Given the description of an element on the screen output the (x, y) to click on. 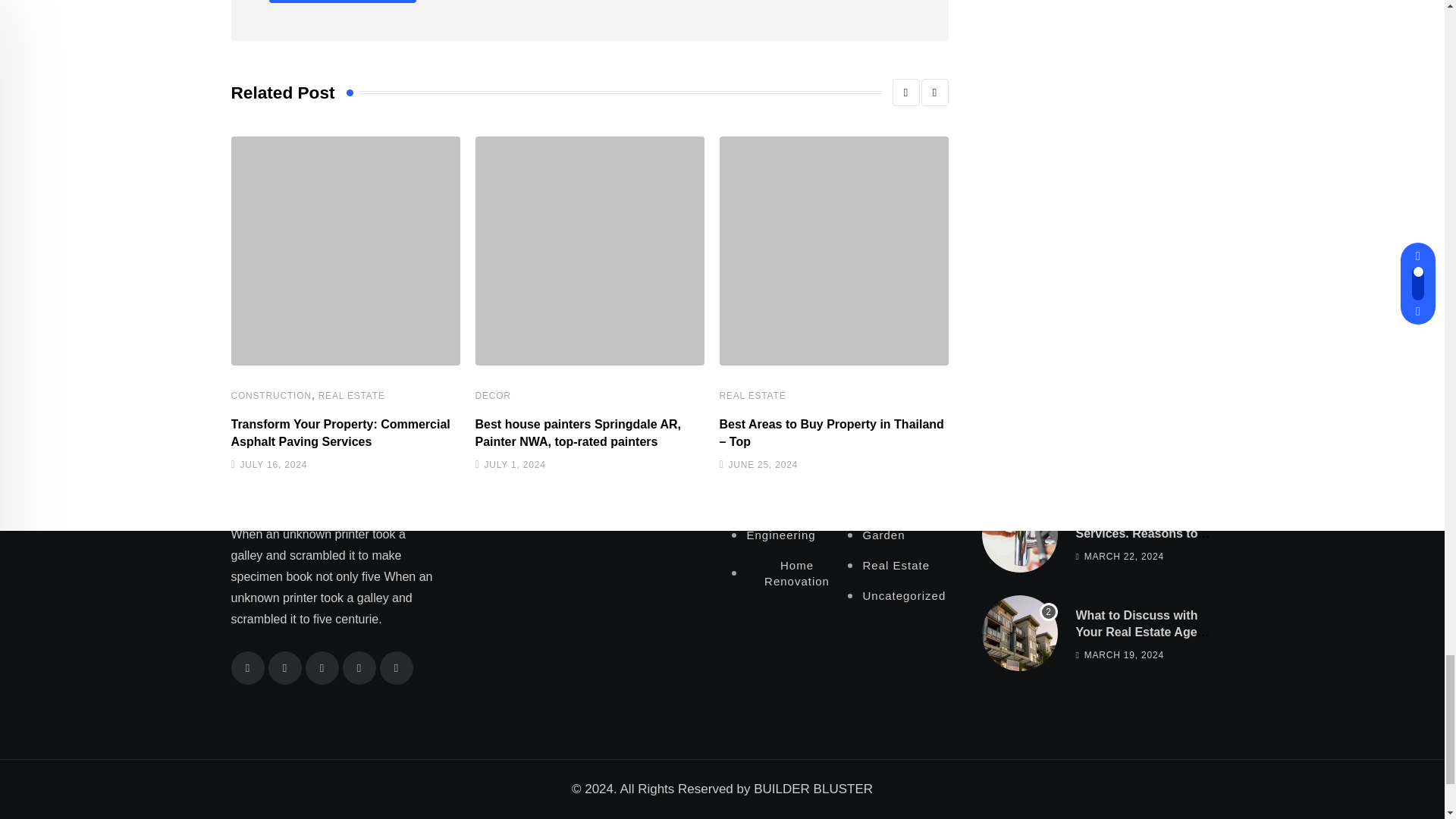
Post Comment (340, 1)
